Given the description of an element on the screen output the (x, y) to click on. 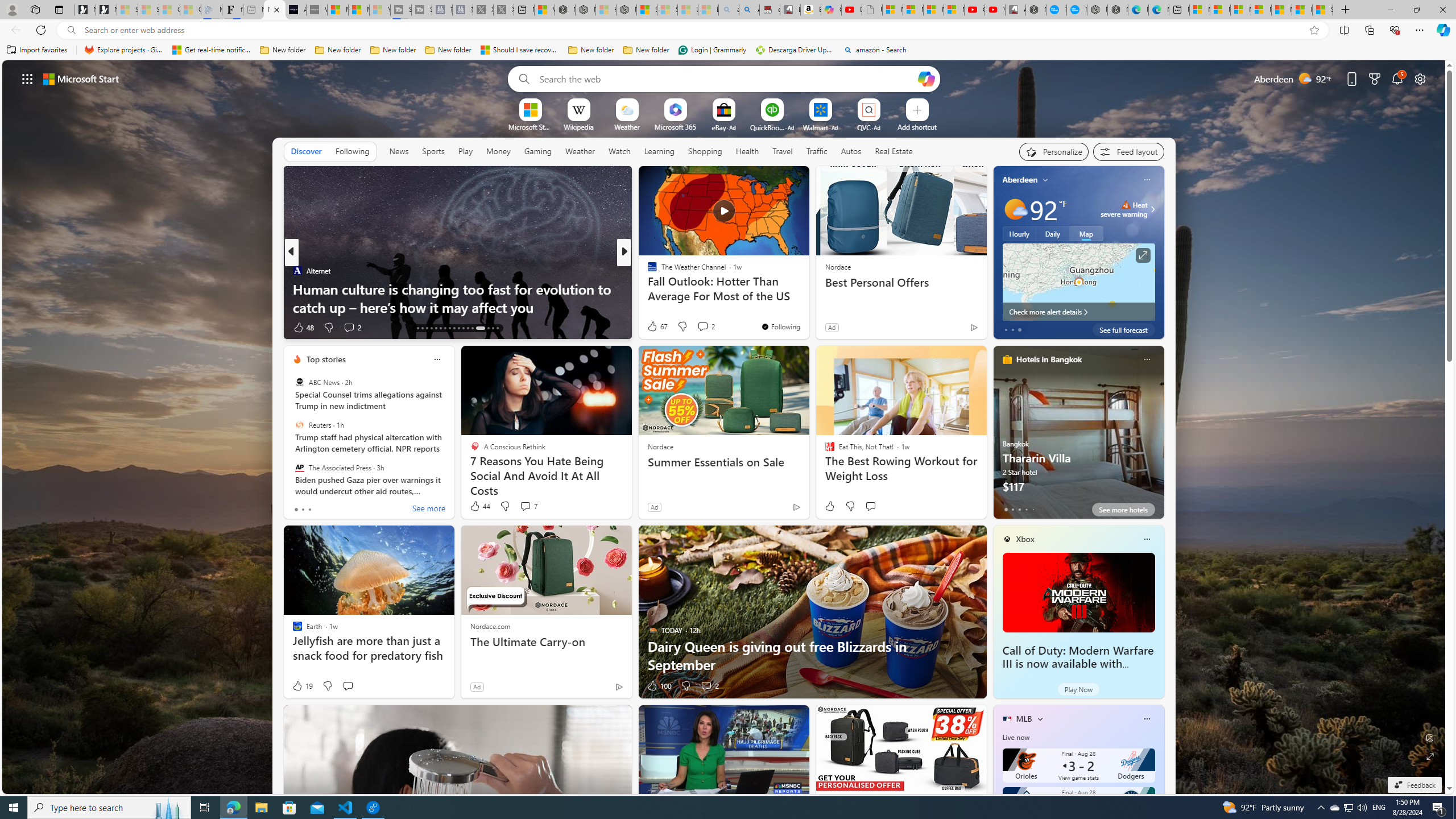
AutomationID: backgroundImagePicture (723, 426)
Gaming (537, 151)
Alternet (296, 270)
Nordace - Nordace has arrived Hong Kong (1117, 9)
Like (829, 505)
Wildlife - MSN (544, 9)
Reuters (299, 424)
Summer Essentials on Sale (723, 462)
44 Like (479, 505)
News (398, 151)
AutomationID: tab-24 (449, 328)
48 Like (303, 327)
tab-0 (1005, 509)
Play (465, 151)
